Given the description of an element on the screen output the (x, y) to click on. 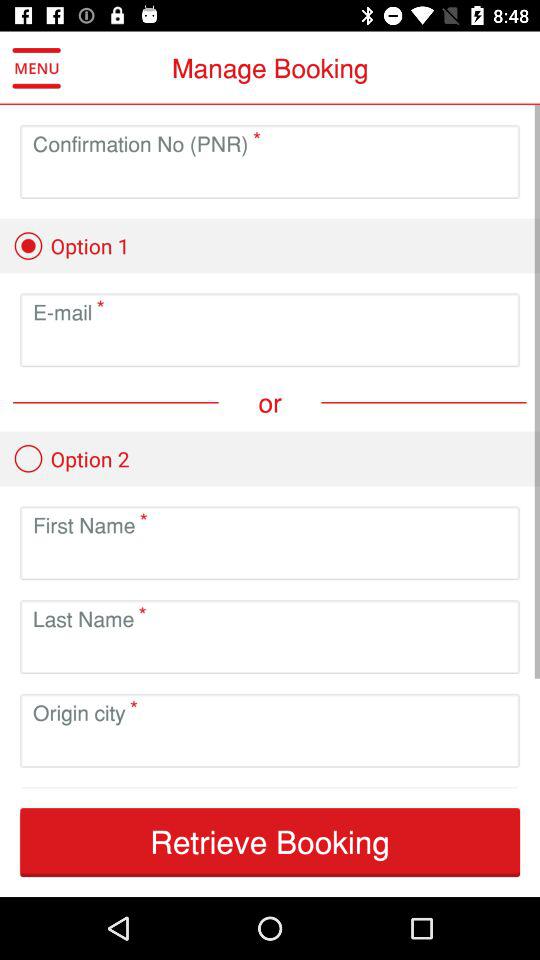
enter the last name (270, 652)
